Given the description of an element on the screen output the (x, y) to click on. 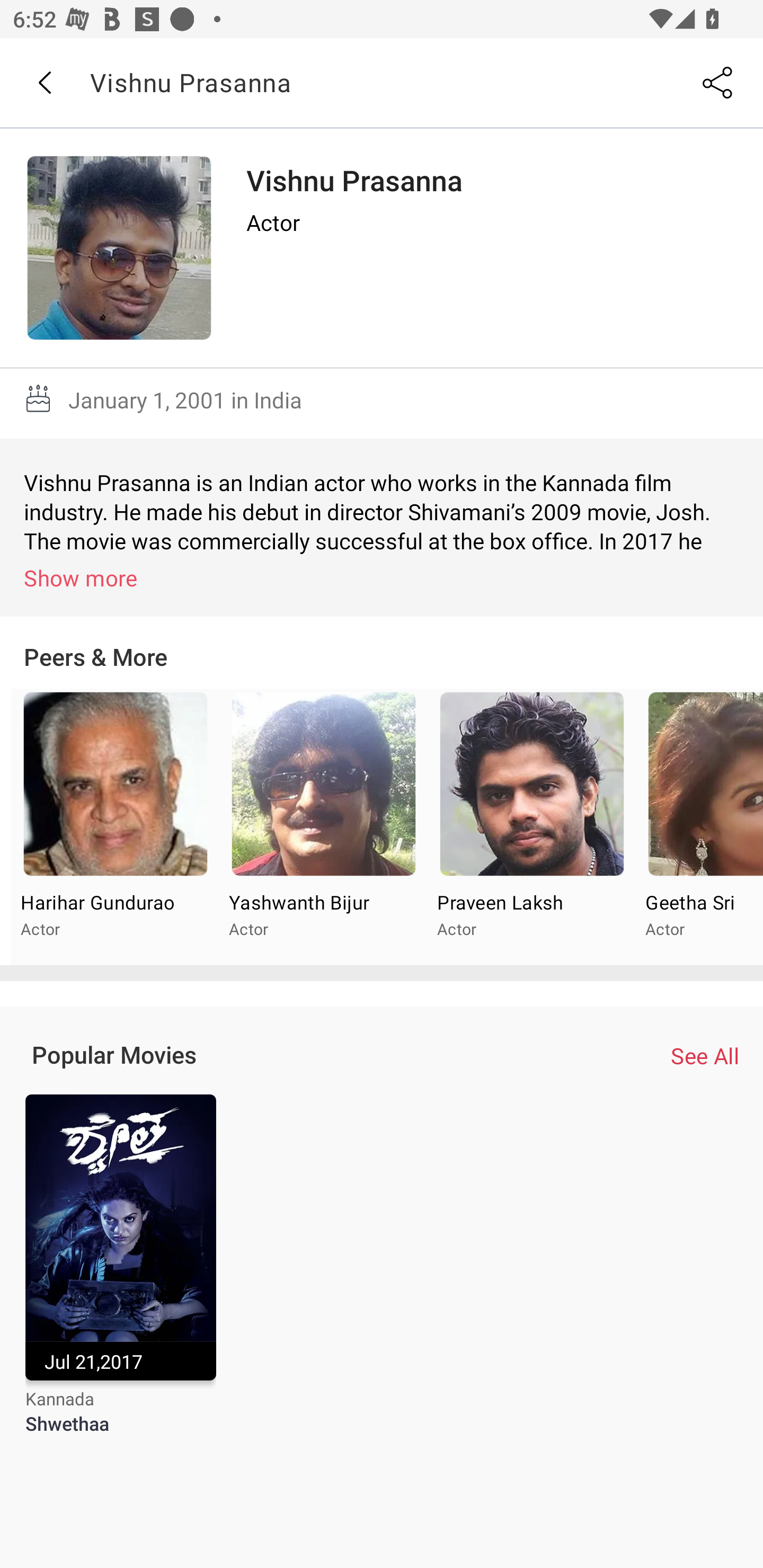
Back (44, 82)
Show more (384, 577)
Harihar Gundurao Dattatreya Actor (115, 826)
Yashwanth Bijur Actor (323, 826)
Praveen Laksh Actor (531, 826)
Geetha Sri Actor (699, 826)
See All (704, 1055)
Jul 21,2017 Kannada Shwethaa (120, 1276)
